Given the description of an element on the screen output the (x, y) to click on. 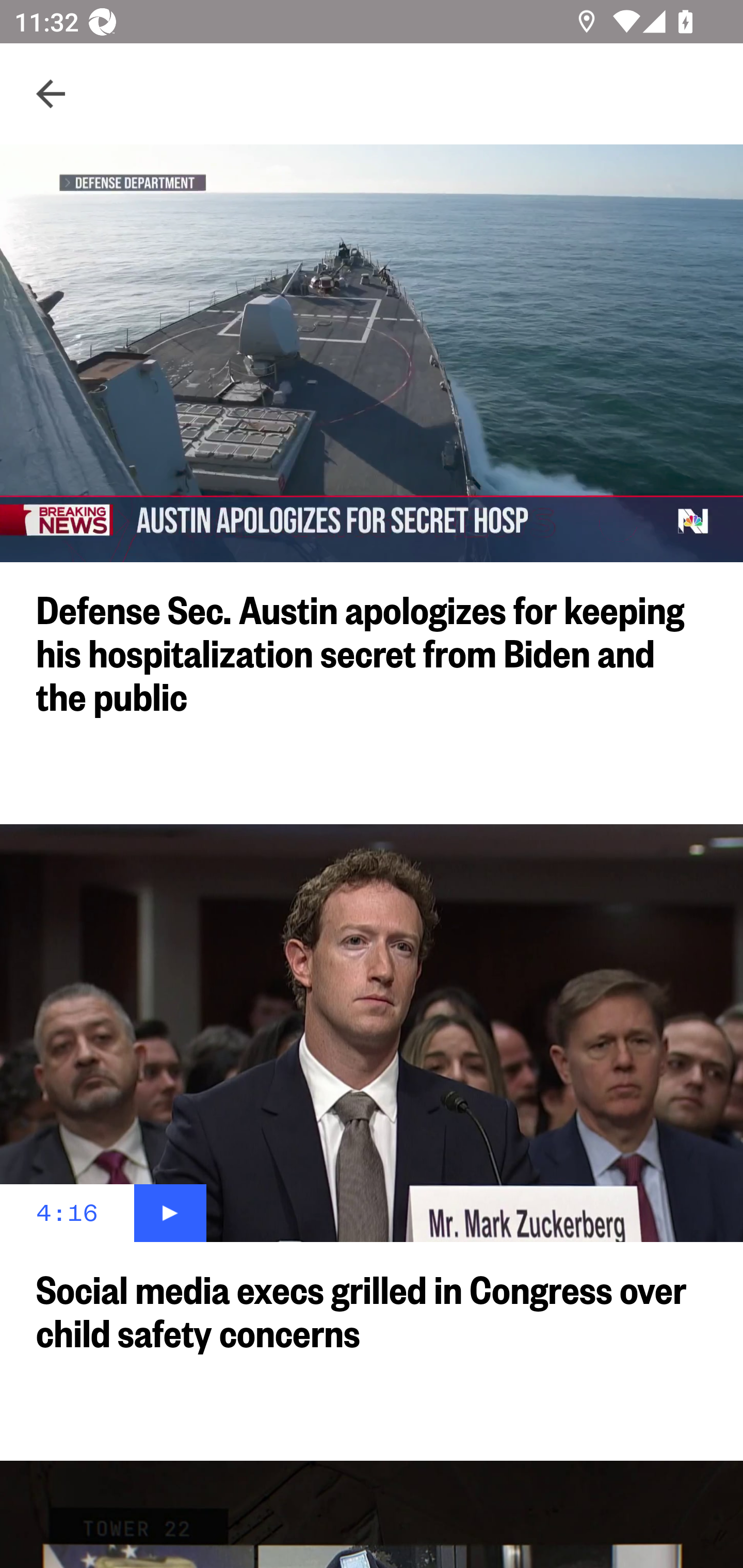
Navigate up (50, 93)
